Given the description of an element on the screen output the (x, y) to click on. 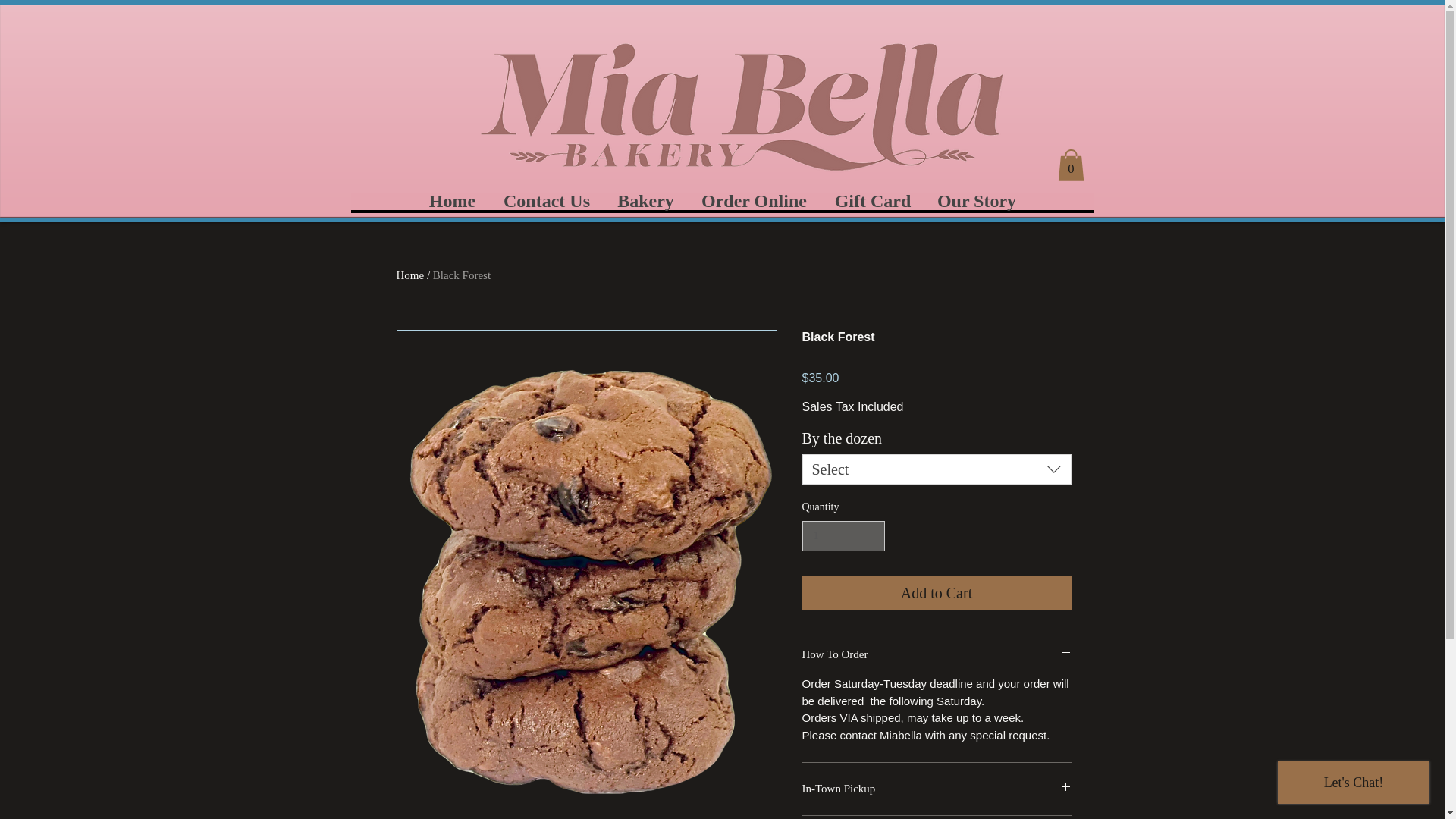
How To Order (936, 654)
Home (450, 200)
Black Forest (461, 275)
Our Story (976, 200)
Select (936, 469)
In-Town Pickup (936, 788)
Contact Us (545, 200)
Add to Cart (936, 592)
Bakery (644, 200)
Home (409, 275)
1 (843, 536)
Order Online (753, 200)
Gift Card (872, 200)
